Given the description of an element on the screen output the (x, y) to click on. 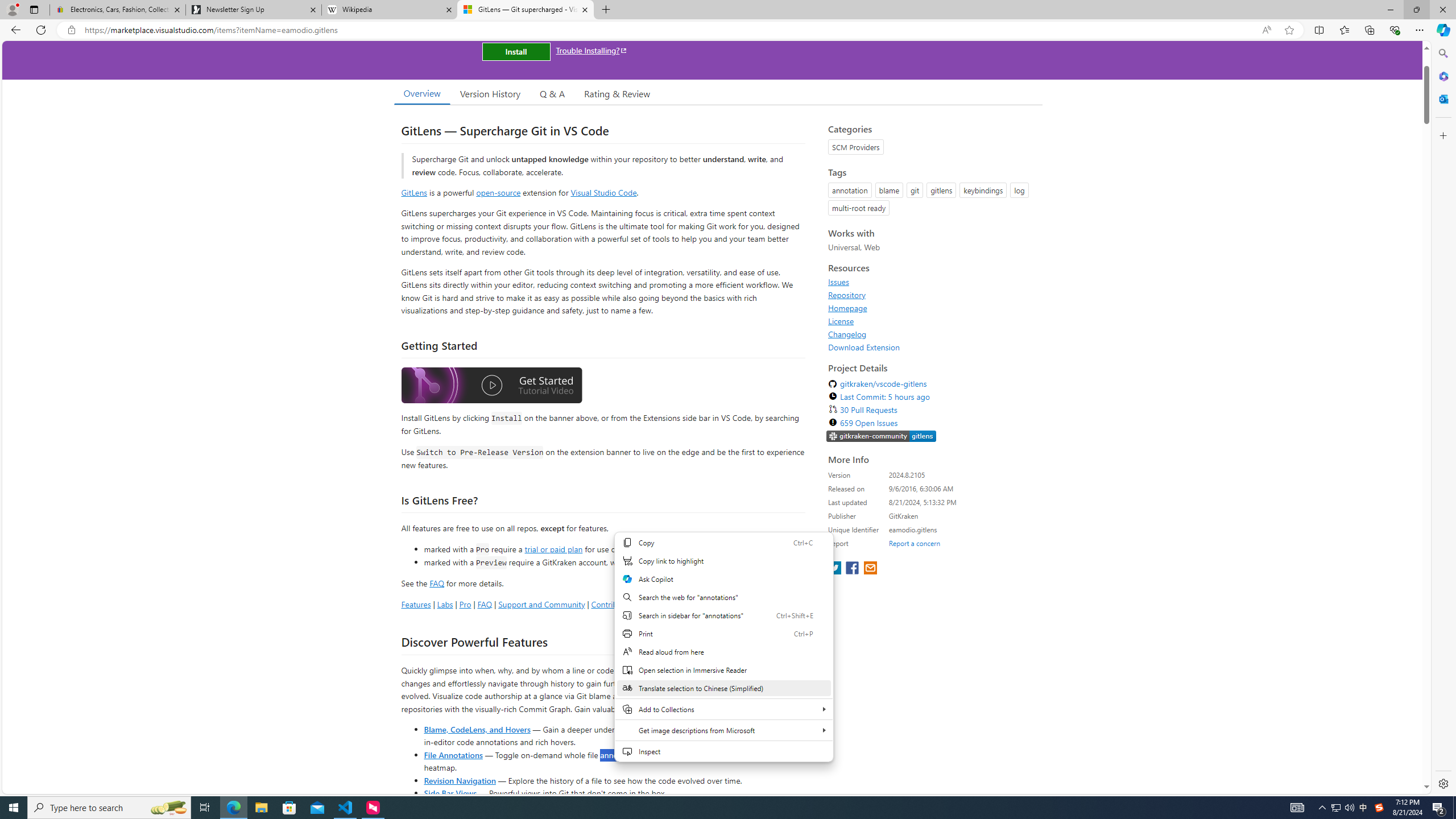
Watch the GitLens Getting Started video (491, 387)
Issues (931, 281)
Search (1442, 53)
Electronics, Cars, Fashion, Collectibles & More | eBay (117, 9)
Labs (444, 603)
Download Extension (931, 346)
Search the web for "annotations" (723, 597)
Homepage (847, 307)
Changelog (847, 333)
https://slack.gitkraken.com// (881, 436)
FAQ (484, 603)
Download Extension (863, 346)
